Given the description of an element on the screen output the (x, y) to click on. 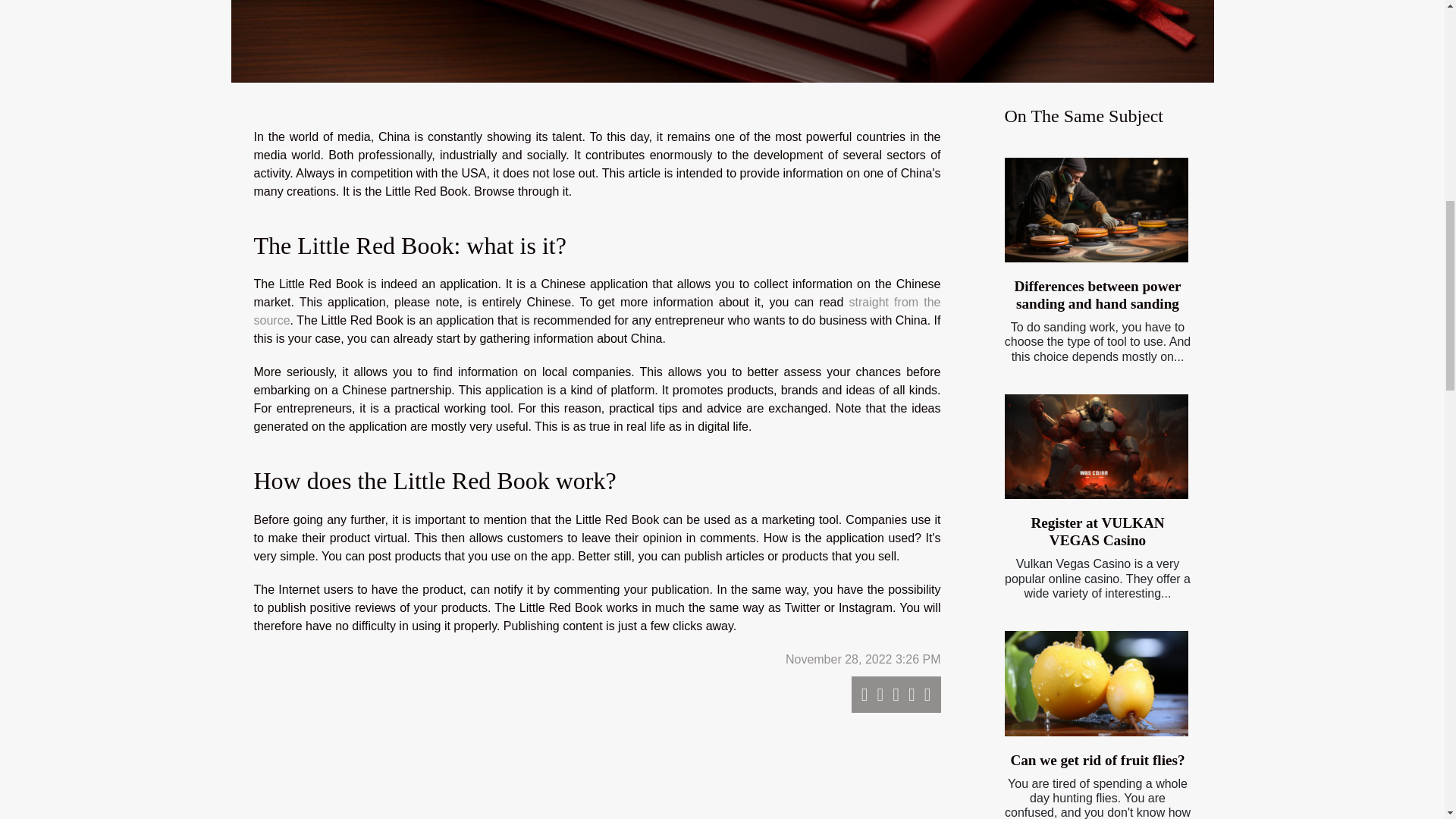
Register at VULKAN VEGAS Casino (1096, 531)
Register at VULKAN VEGAS Casino (1096, 531)
Can we get rid of fruit flies? (1097, 760)
Differences between power sanding and hand sanding (1096, 295)
Differences between power sanding and hand sanding (1096, 210)
Can we get rid of fruit flies? (1097, 760)
Differences between power sanding and hand sanding (1096, 295)
Can we get rid of fruit flies? (1096, 683)
Register at VULKAN VEGAS Casino (1096, 446)
straight from the source (596, 310)
